Given the description of an element on the screen output the (x, y) to click on. 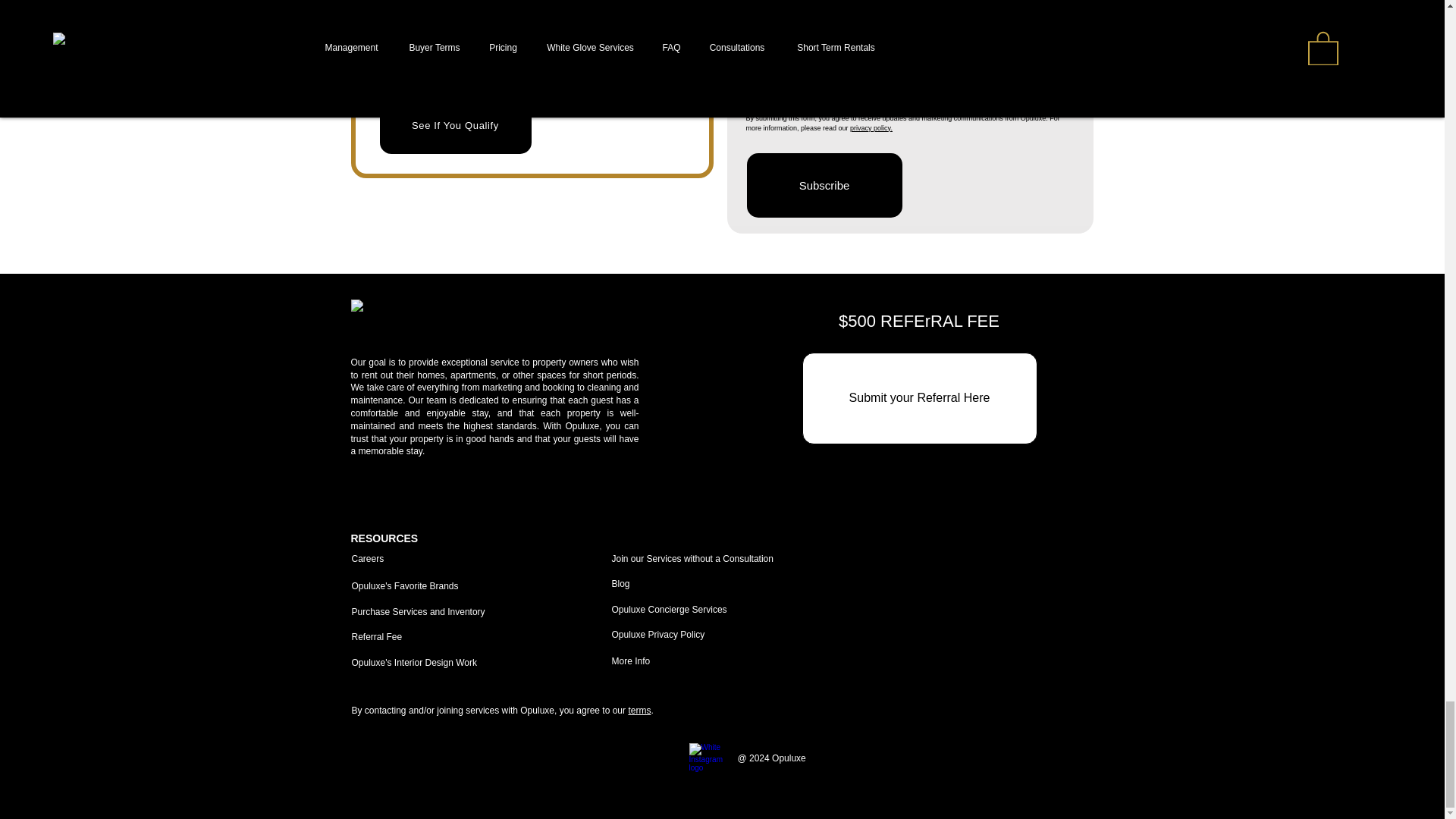
privacy policy. (871, 127)
Opuluxe's Fa (378, 585)
Subscribe (823, 185)
vorite Brands (431, 585)
Purchase (372, 611)
Submit your Referral Here (919, 398)
Careers (368, 558)
See If You Qualify (454, 125)
